Given the description of an element on the screen output the (x, y) to click on. 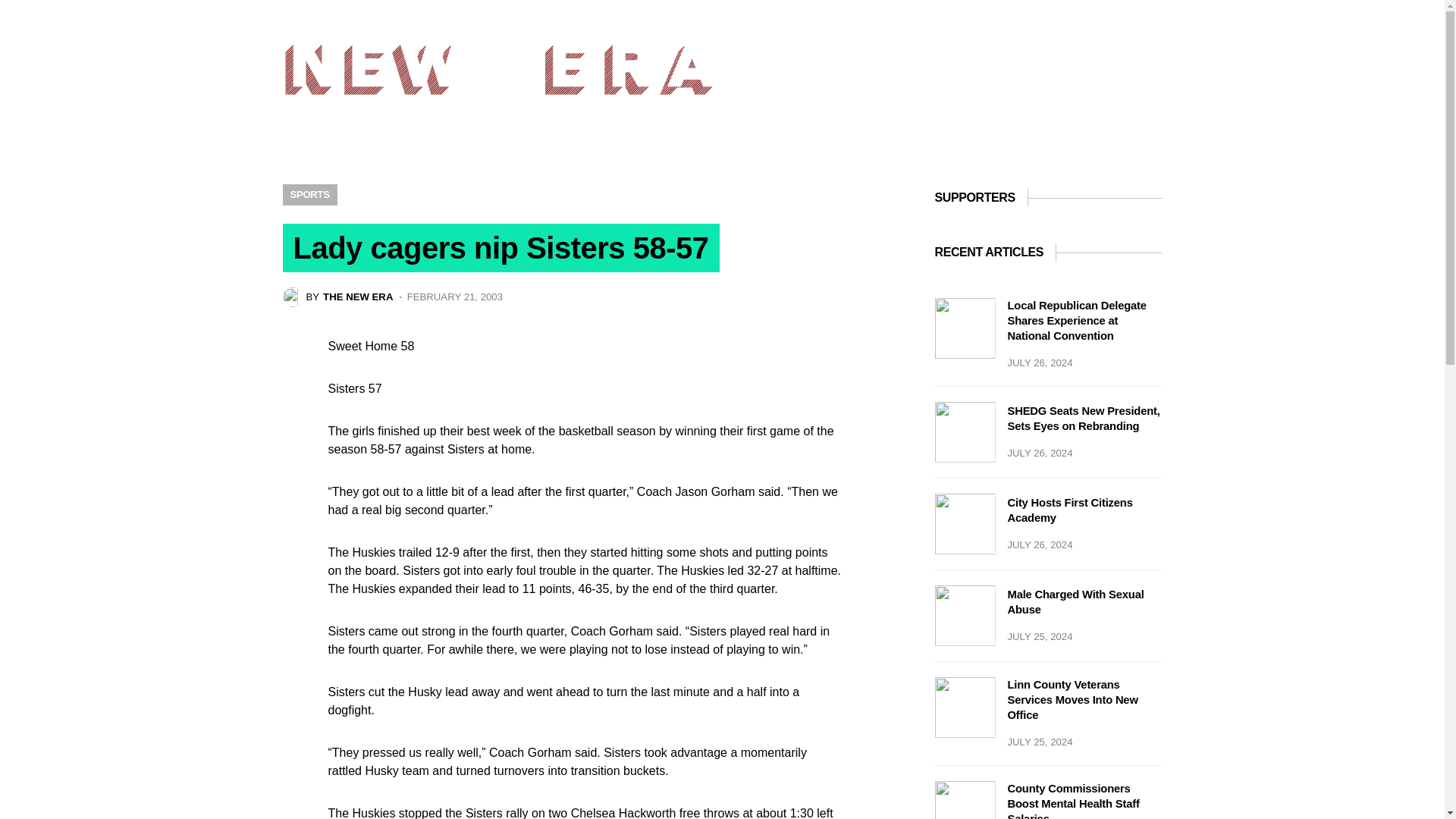
View all posts by The New Era (337, 297)
